Given the description of an element on the screen output the (x, y) to click on. 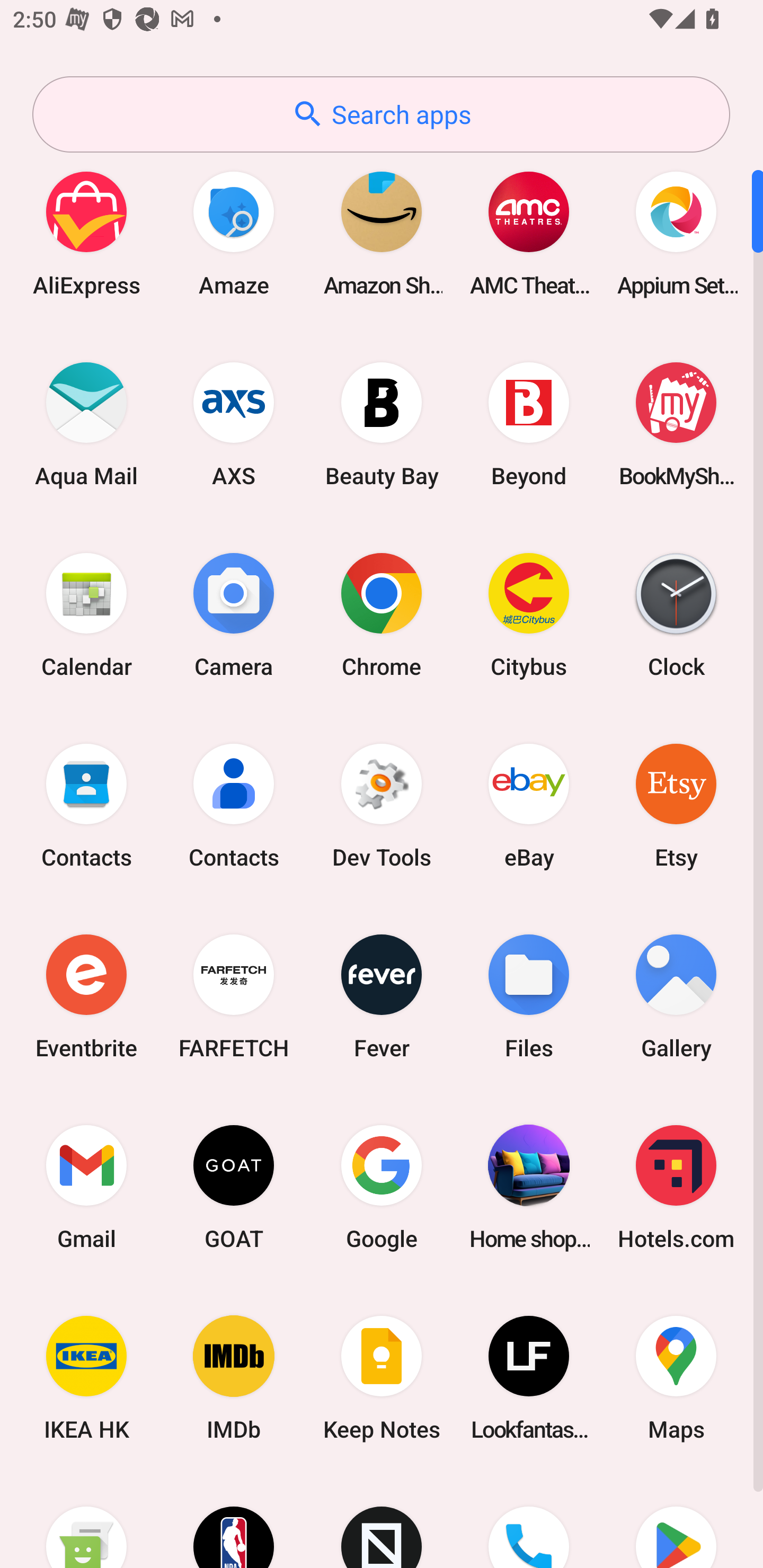
  Search apps (381, 114)
AliExpress (86, 233)
Amaze (233, 233)
Amazon Shopping (381, 233)
AMC Theatres (528, 233)
Appium Settings (676, 233)
Aqua Mail (86, 424)
AXS (233, 424)
Beauty Bay (381, 424)
Beyond (528, 424)
BookMyShow (676, 424)
Calendar (86, 614)
Camera (233, 614)
Chrome (381, 614)
Citybus (528, 614)
Clock (676, 614)
Contacts (86, 805)
Contacts (233, 805)
Dev Tools (381, 805)
eBay (528, 805)
Etsy (676, 805)
Eventbrite (86, 996)
FARFETCH (233, 996)
Fever (381, 996)
Files (528, 996)
Gallery (676, 996)
Gmail (86, 1186)
GOAT (233, 1186)
Google (381, 1186)
Home shopping (528, 1186)
Hotels.com (676, 1186)
IKEA HK (86, 1377)
IMDb (233, 1377)
Keep Notes (381, 1377)
Lookfantastic (528, 1377)
Maps (676, 1377)
Messaging (86, 1520)
NBA (233, 1520)
Novelship (381, 1520)
Phone (528, 1520)
Play Store (676, 1520)
